Given the description of an element on the screen output the (x, y) to click on. 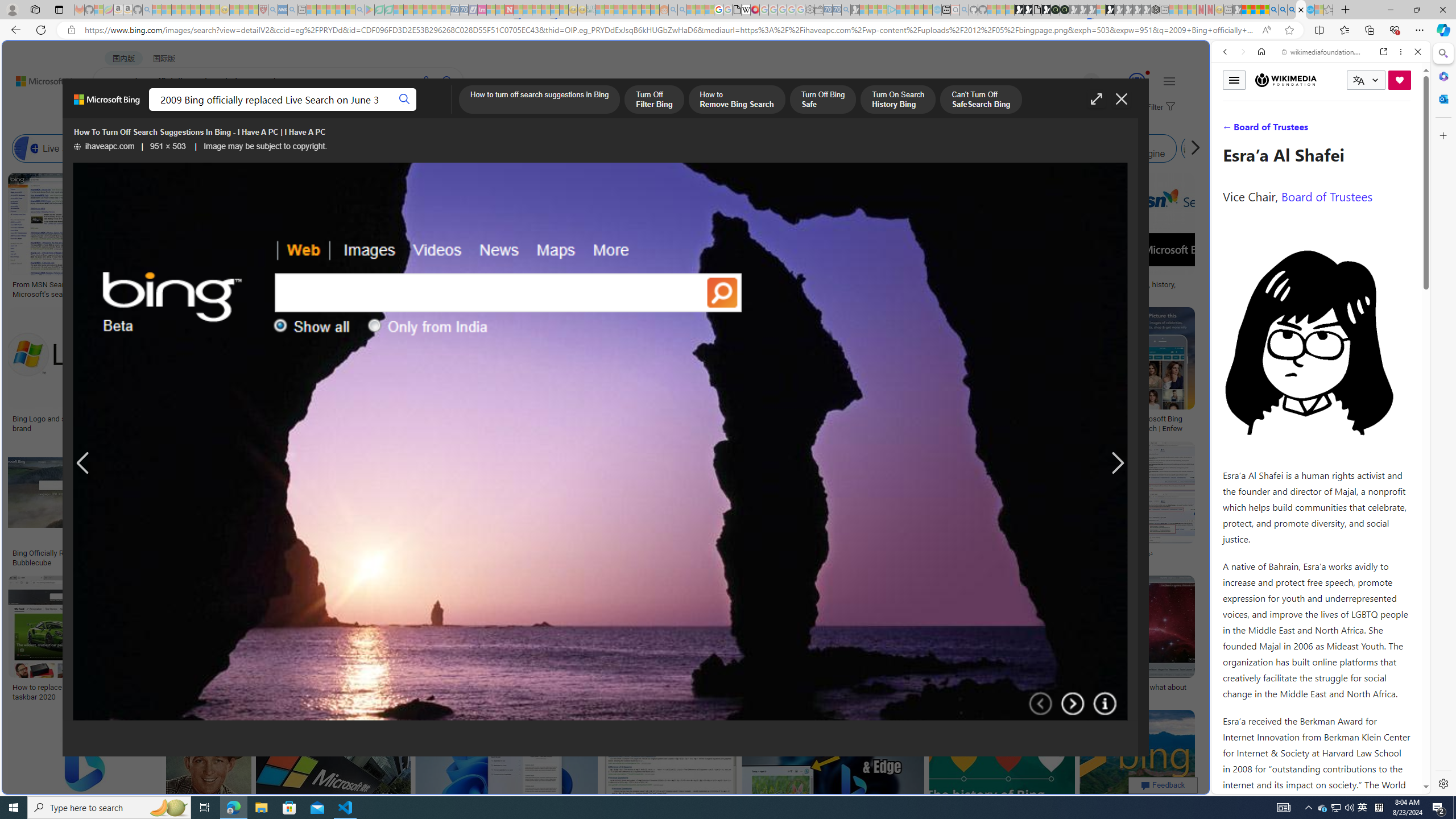
Technology History timeline | Timetoast timelines (833, 289)
Frequently visited (965, 151)
Remove the 'News & Interests' bar from Bing | TechLife (857, 419)
Sign in to your account - Sleeping (1100, 9)
Home | Sky Blue Bikes - Sky Blue Bikes (1118, 242)
ACADEMIC (360, 111)
Bing (2009) (RARE/FAKE) - YouTube (925, 552)
